Given the description of an element on the screen output the (x, y) to click on. 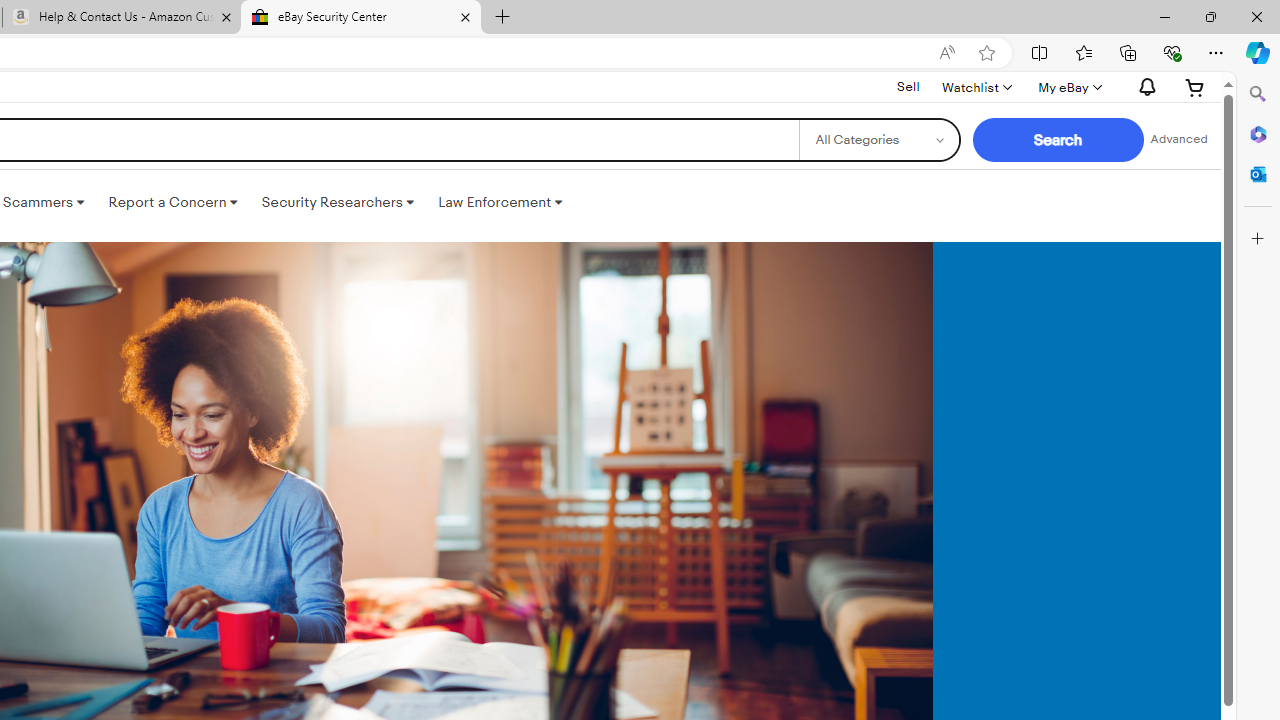
Law Enforcement  (500, 202)
eBay Security Center (360, 17)
Close Outlook pane (1258, 174)
Security Researchers  (337, 202)
Search (1258, 94)
Notifications (1142, 87)
Select a category for search (877, 139)
Sell (908, 87)
Customize (1258, 239)
